Given the description of an element on the screen output the (x, y) to click on. 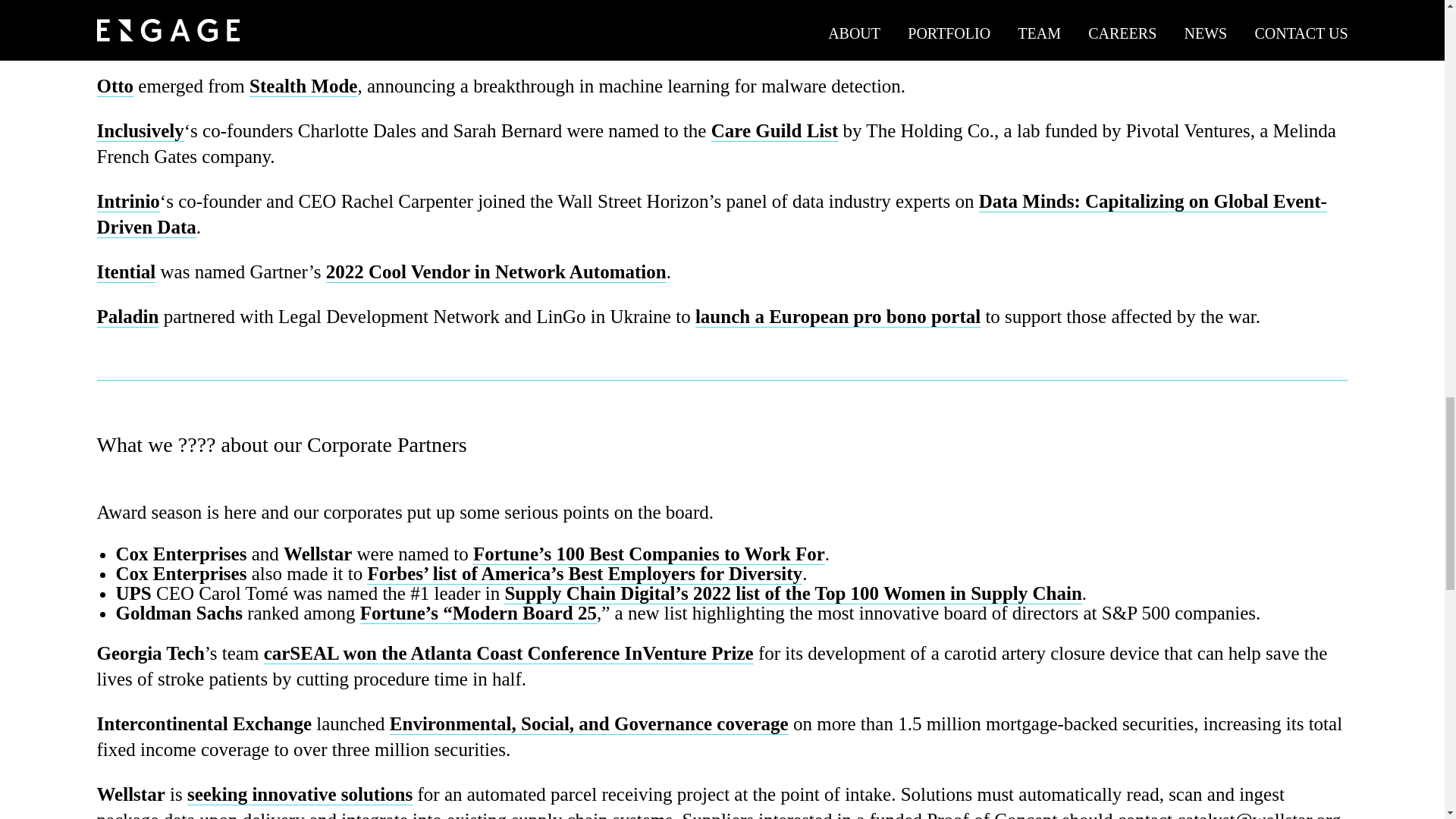
Stealth Mode (302, 86)
Stord (137, 25)
WorkStep (155, 46)
Paladin (127, 316)
Otto (115, 86)
2022 Cool Vendor in Network Automation (496, 271)
Care Guild List (774, 130)
evolution of SaaS and the metaverse (715, 8)
Inclusively (140, 130)
Data Minds: Capitalizing on Global Event-Driven Data (711, 214)
